Given the description of an element on the screen output the (x, y) to click on. 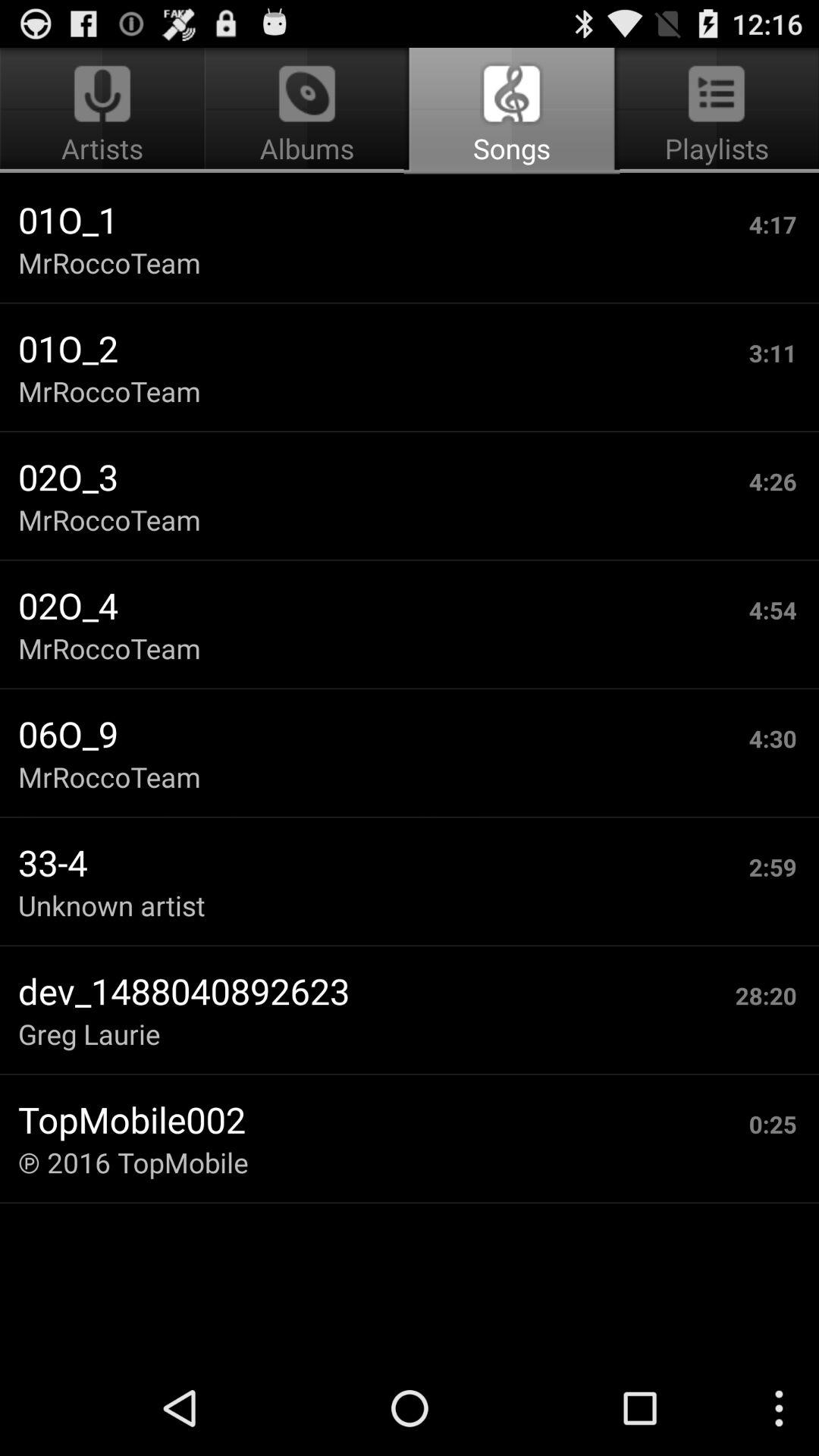
press the app next to songs app (105, 111)
